Given the description of an element on the screen output the (x, y) to click on. 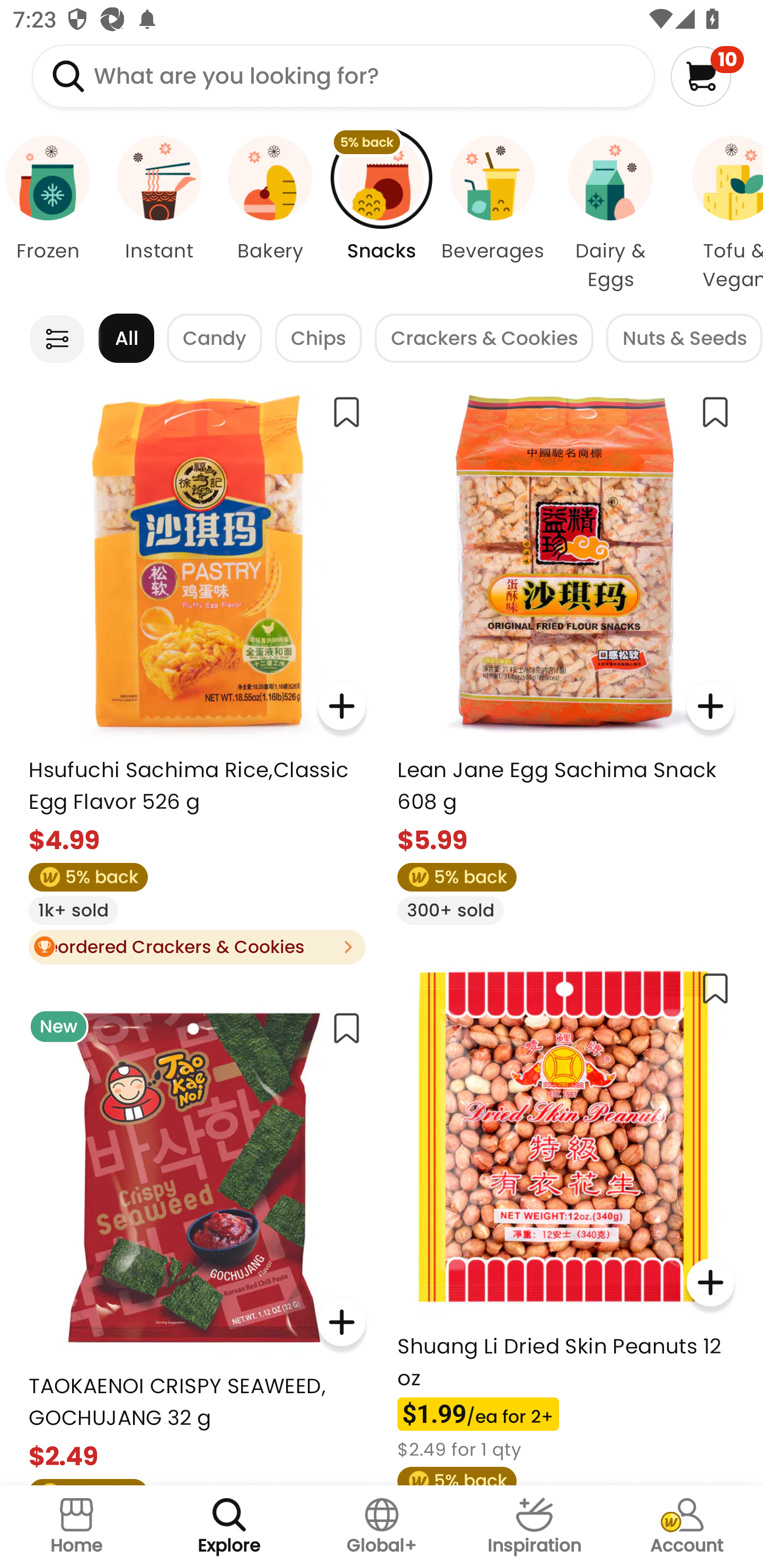
What are you looking for? (343, 75)
10 (706, 75)
Frozen (51, 214)
Instant (158, 214)
Bakery (269, 214)
5% back Snacks (381, 214)
Beverages (492, 214)
Dairy & Eggs (610, 214)
Tofu & Vegan (717, 214)
All (126, 337)
Candy (214, 337)
Chips (317, 337)
Crackers & Cookies (483, 337)
Nuts & Seeds (683, 337)
